Given the description of an element on the screen output the (x, y) to click on. 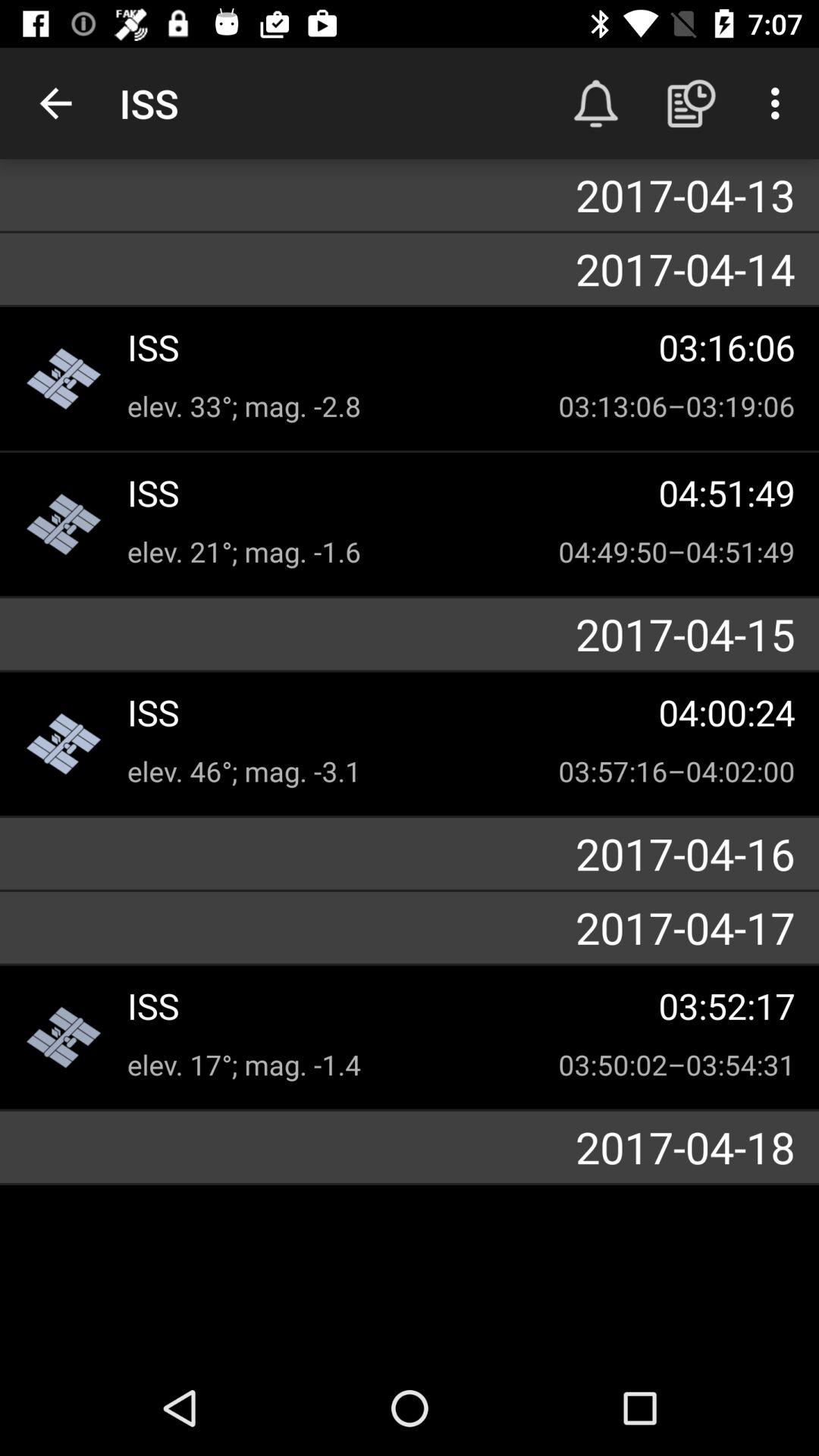
click the item to the left of iss app (55, 103)
